Given the description of an element on the screen output the (x, y) to click on. 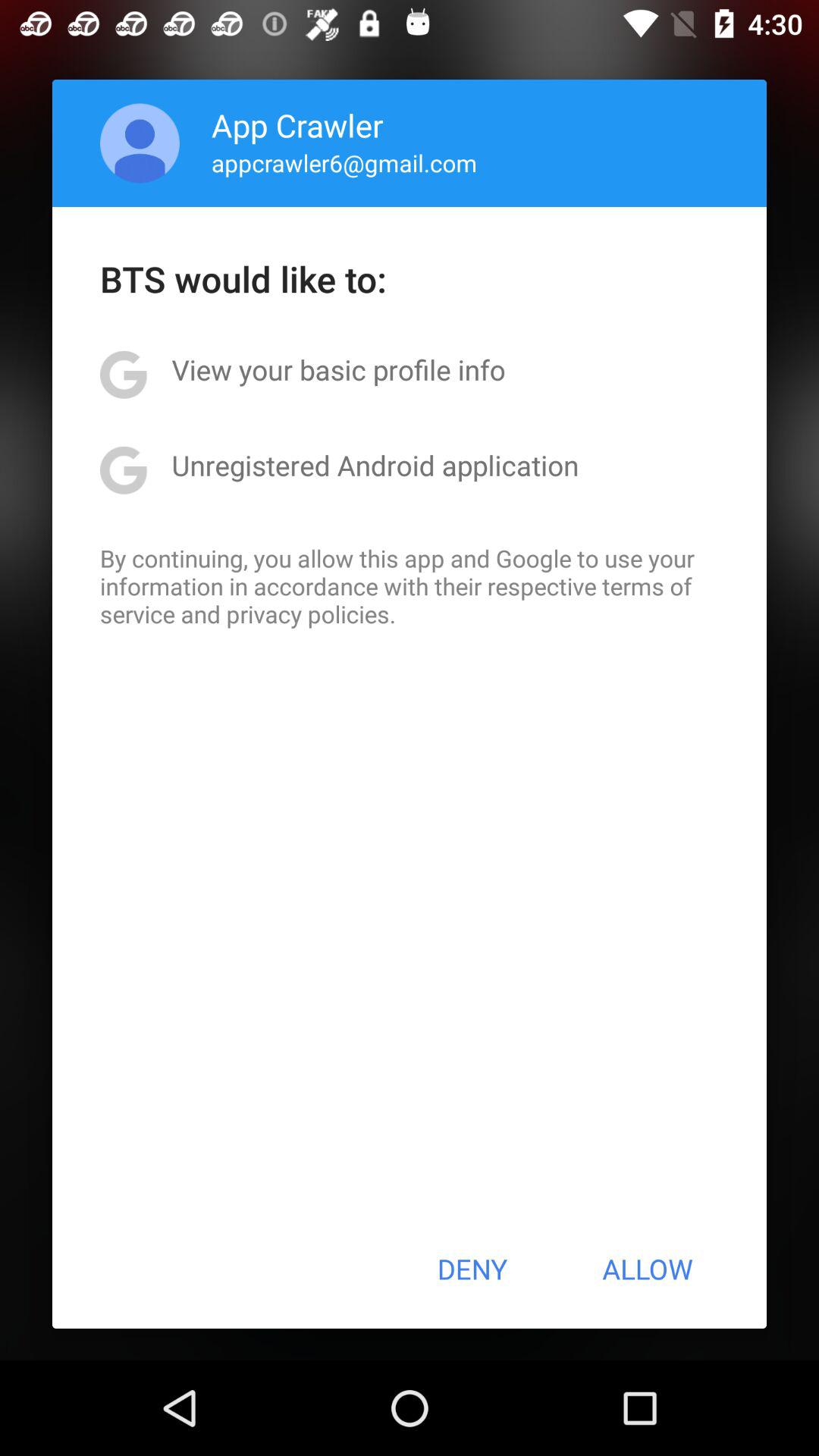
turn on appcrawler6@gmail.com item (344, 162)
